Given the description of an element on the screen output the (x, y) to click on. 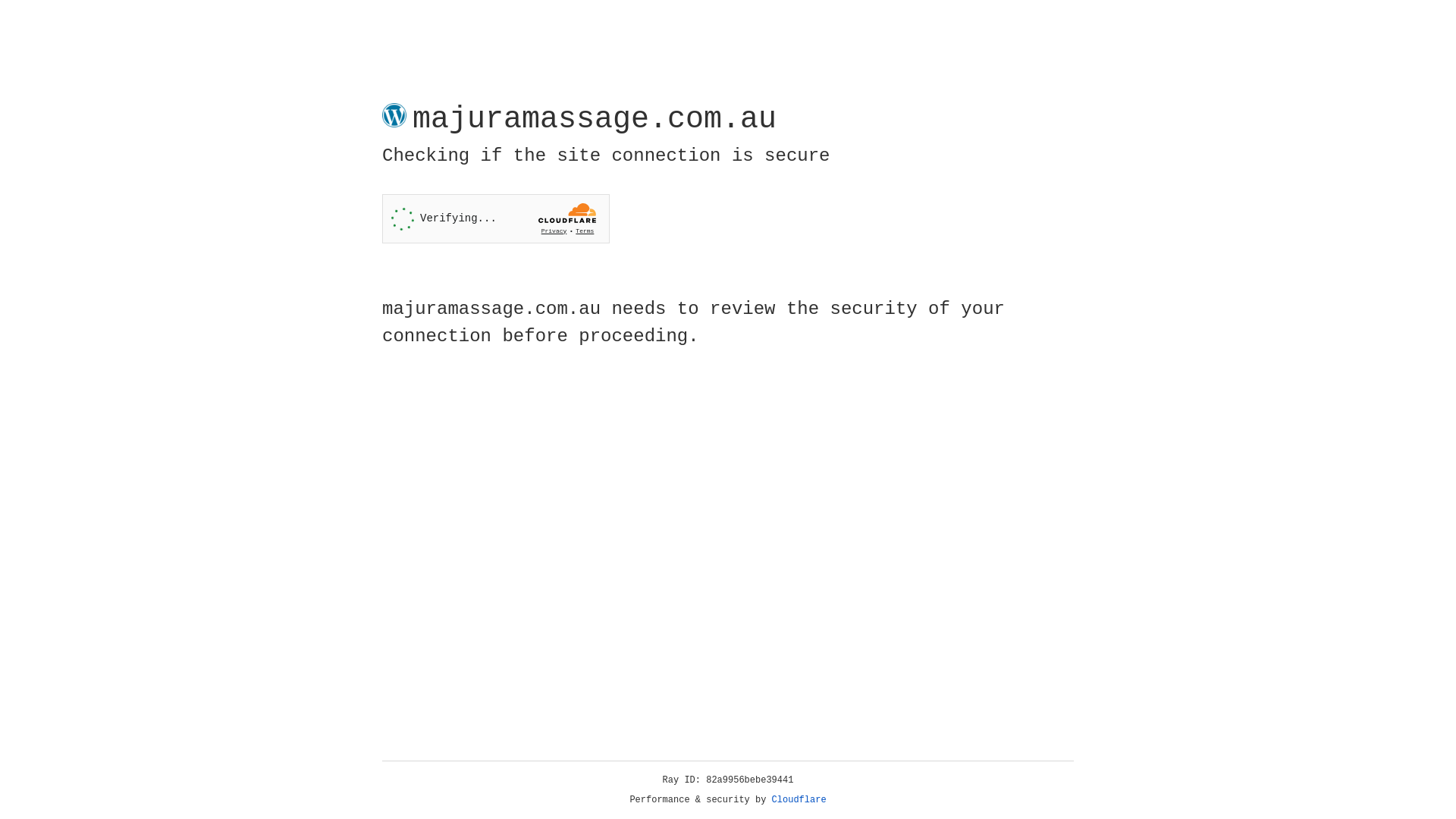
Cloudflare Element type: text (798, 799)
Widget containing a Cloudflare security challenge Element type: hover (495, 218)
